Given the description of an element on the screen output the (x, y) to click on. 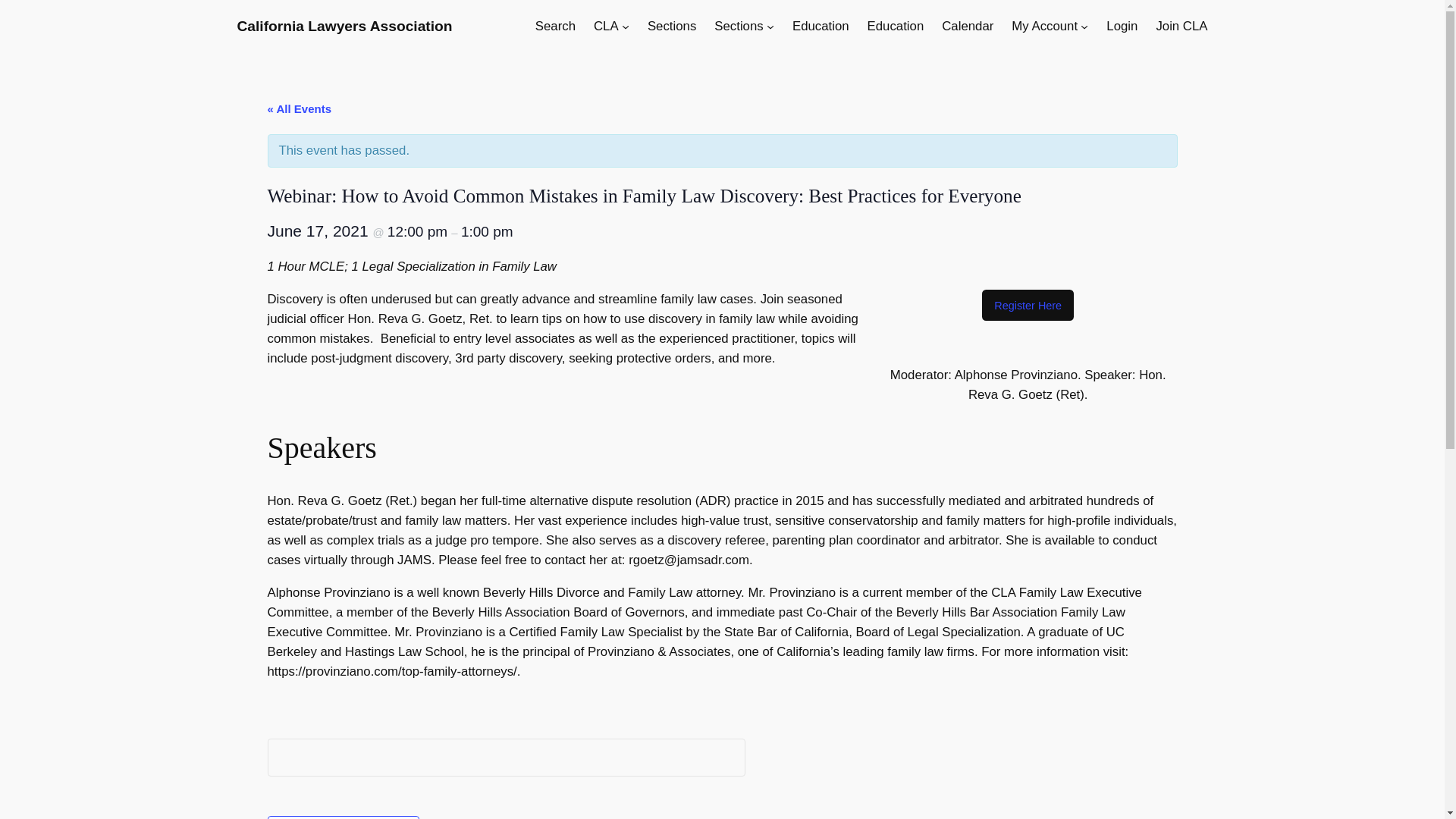
Sections (671, 26)
Search (555, 26)
California Lawyers Association (343, 26)
CLA (606, 26)
